Given the description of an element on the screen output the (x, y) to click on. 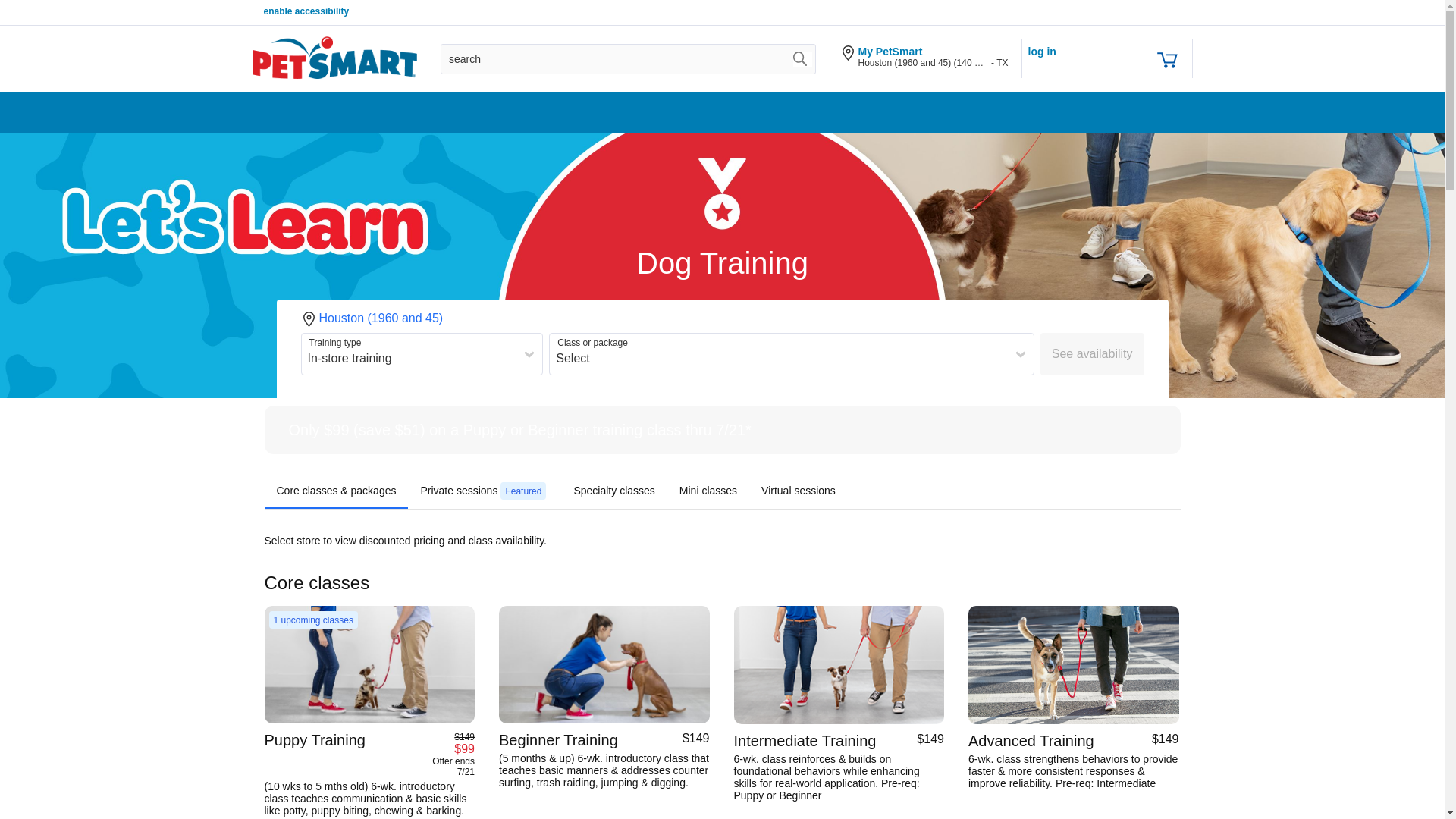
log in (1042, 51)
See availability (1092, 353)
enable accessibility (306, 10)
My PetSmart (934, 51)
